Given the description of an element on the screen output the (x, y) to click on. 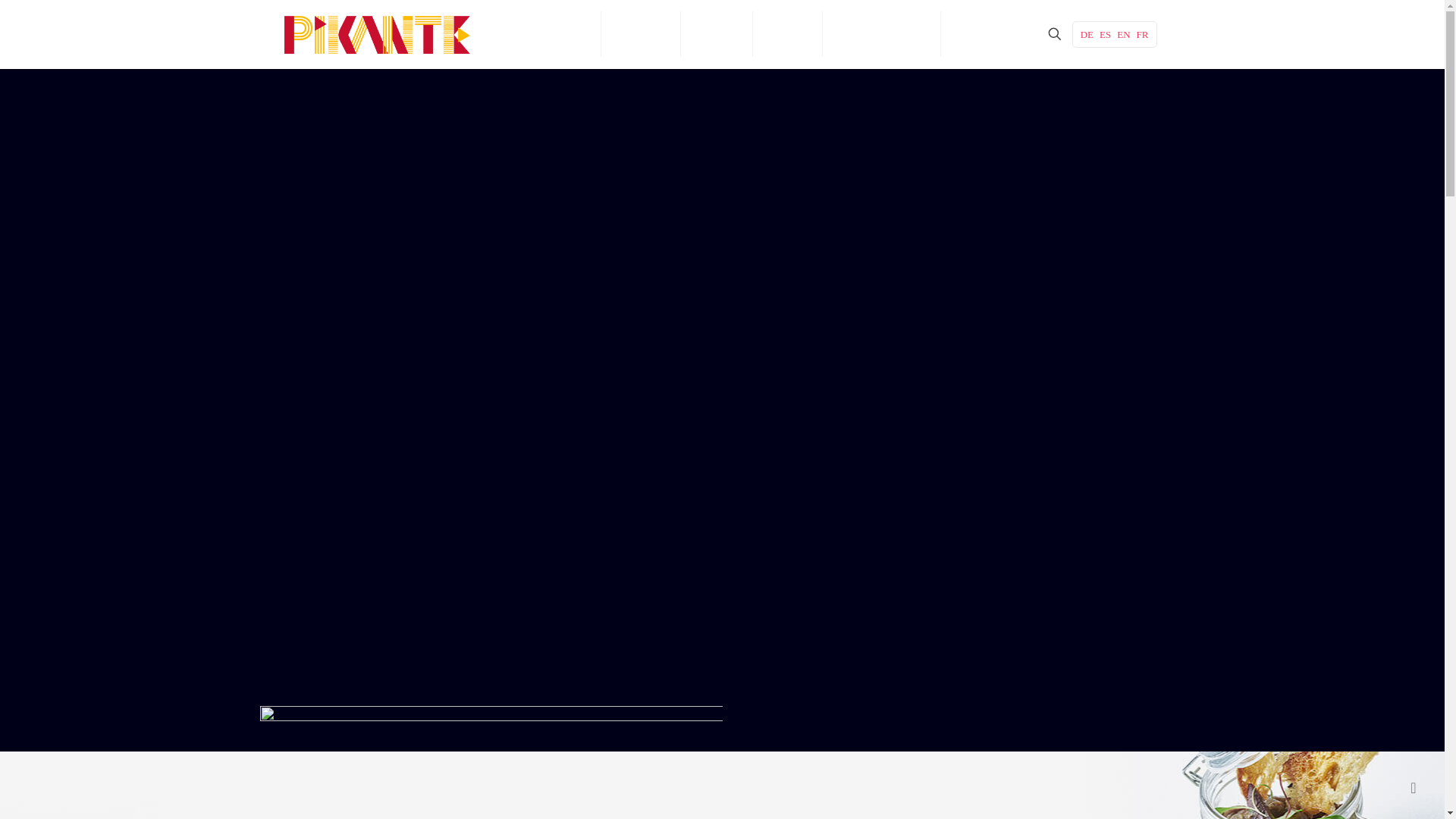
RESERVATIONS (881, 33)
FR (1142, 34)
MENUS (716, 33)
HOME (568, 33)
PRESS (787, 33)
PIKANTE (641, 33)
EN (1122, 34)
ES (1104, 34)
CONTACT (982, 33)
DE (1086, 34)
